Given the description of an element on the screen output the (x, y) to click on. 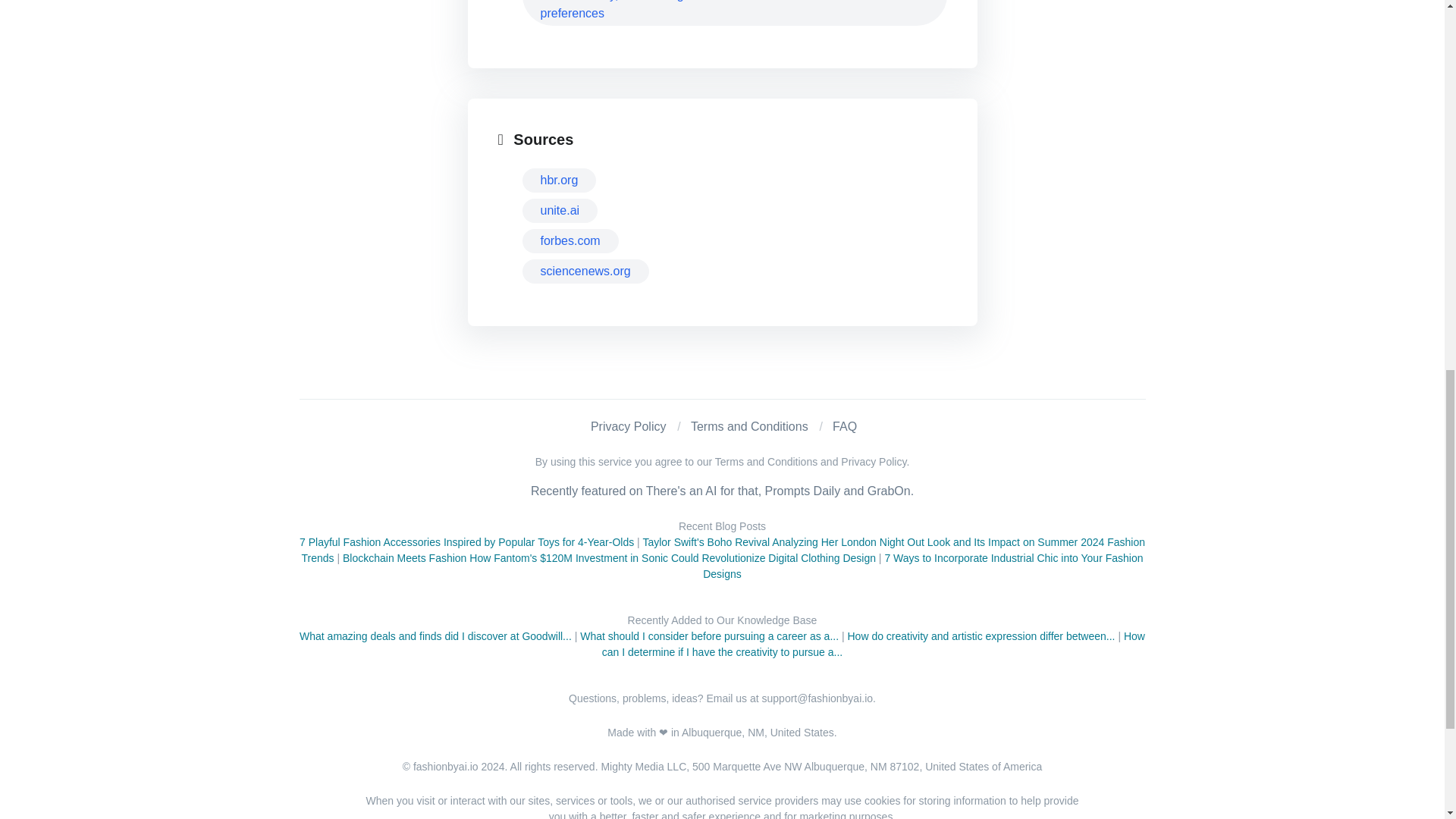
How can I determine if I have the creativity to pursue a... (873, 643)
What amazing deals and finds did I discover at Goodwill... (435, 635)
Terms and Conditions (749, 426)
forbes.com (569, 241)
What should I consider before pursuing a career as a... (708, 635)
Privacy Policy (628, 426)
unite.ai (558, 210)
hbr.org (558, 180)
How do creativity and artistic expression differ between... (981, 635)
sciencenews.org (584, 271)
FAQ (844, 426)
